Given the description of an element on the screen output the (x, y) to click on. 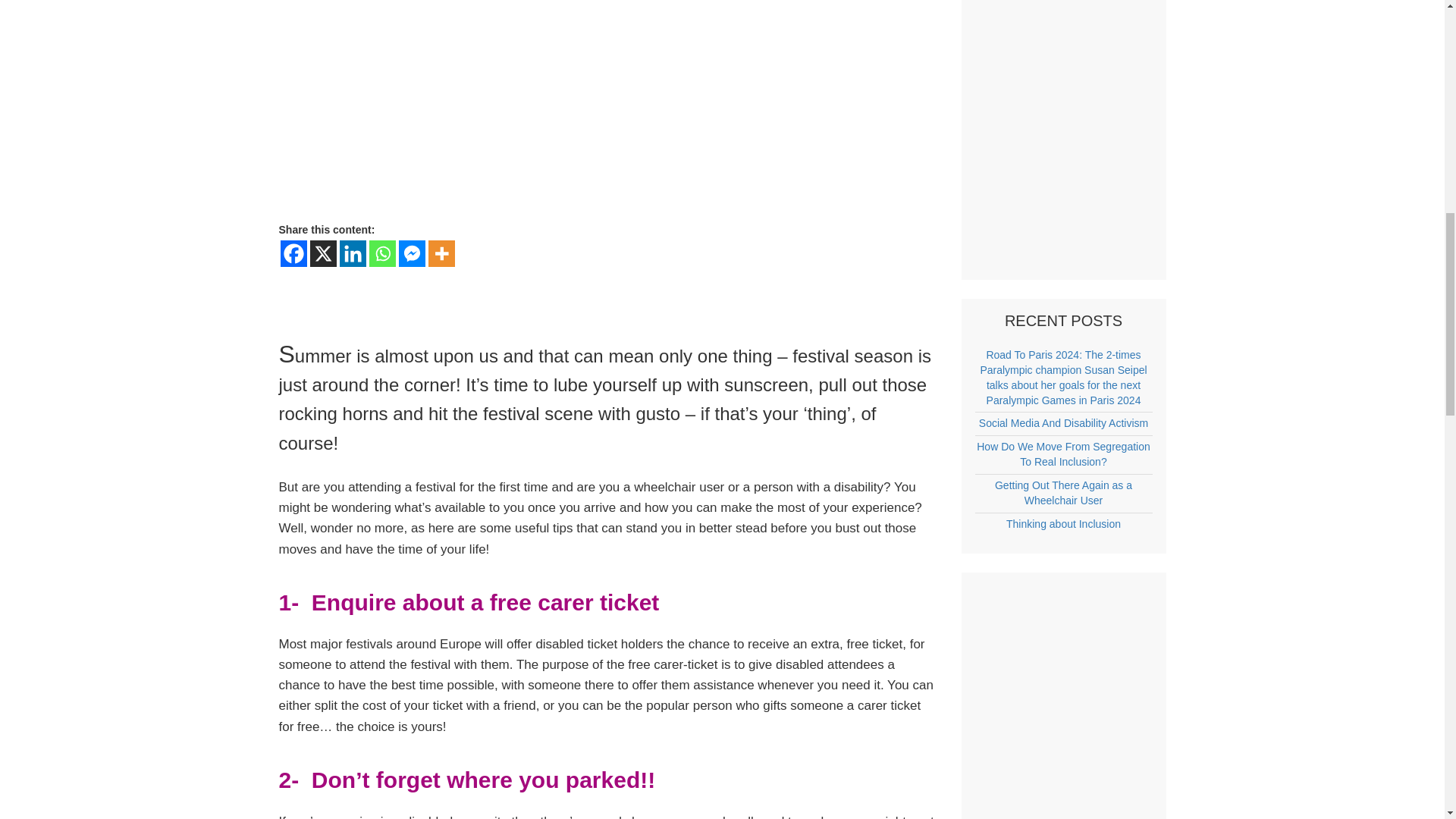
Facebook (294, 253)
Whatsapp (381, 253)
X (322, 253)
More (441, 253)
Tweet (638, 279)
Facebook Share (404, 281)
Linkedin (352, 253)
